Given the description of an element on the screen output the (x, y) to click on. 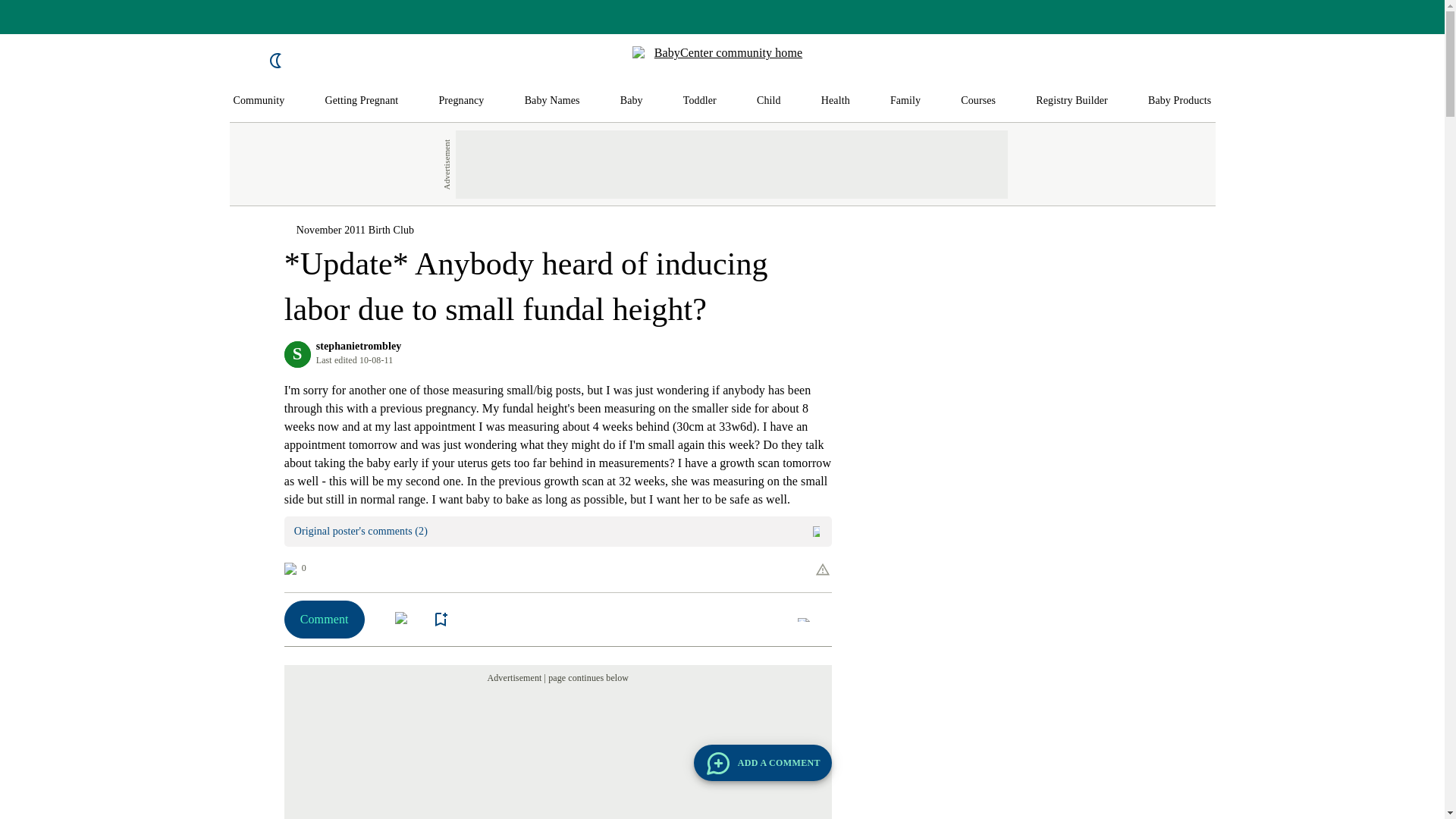
Toddler (699, 101)
Community (258, 101)
Baby Names (551, 101)
Courses (977, 101)
Baby (631, 101)
Pregnancy (460, 101)
Registry Builder (1071, 101)
Family (904, 101)
Baby Products (1179, 101)
Child (768, 101)
